Given the description of an element on the screen output the (x, y) to click on. 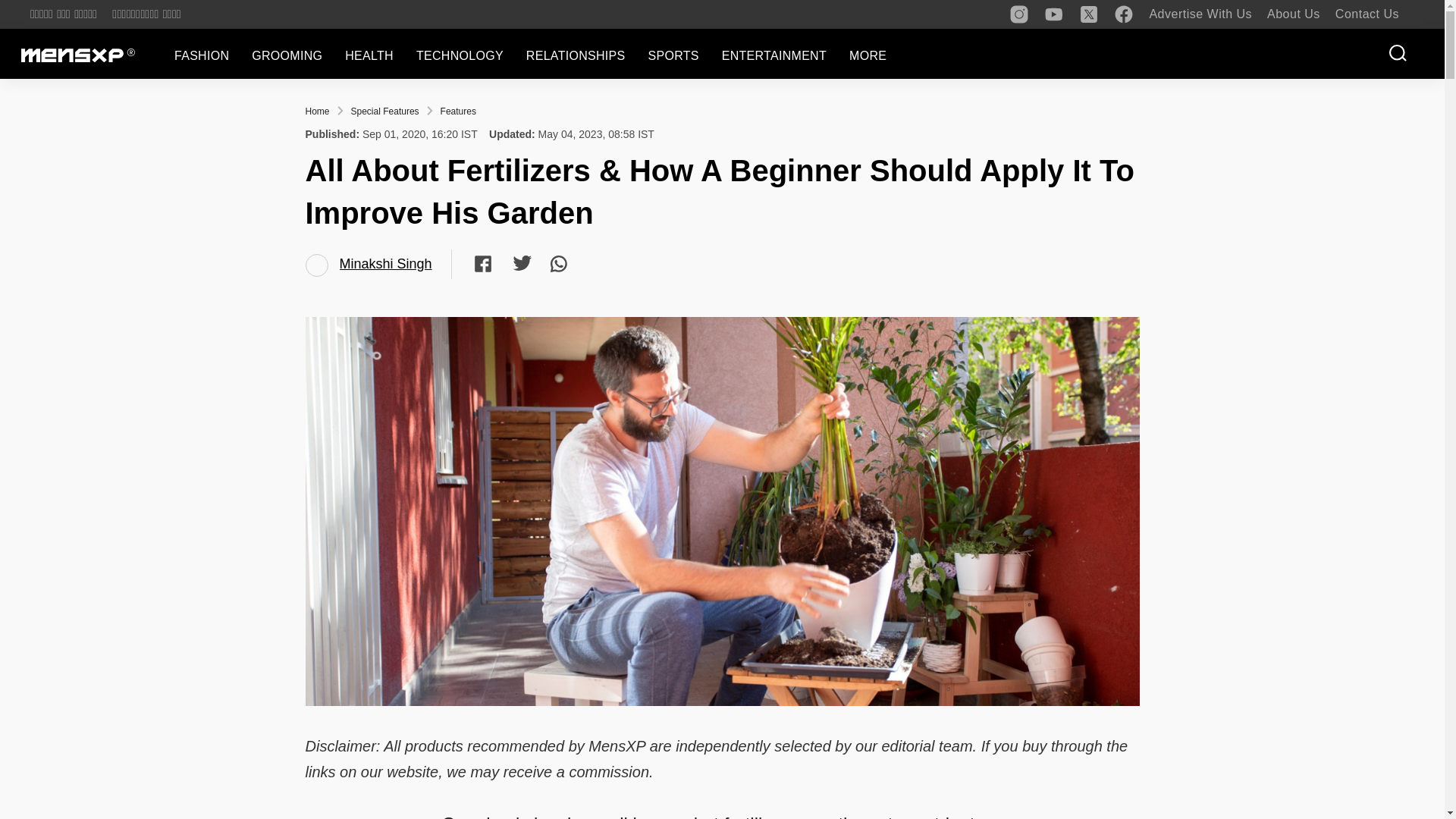
Contact Us  (1367, 13)
About Us (1293, 13)
Contact Us (1367, 13)
Special Features (384, 111)
Advertise With Us (1200, 13)
About Us (1293, 13)
Features (458, 111)
Home (316, 111)
Advertise With Us (1200, 13)
